Given the description of an element on the screen output the (x, y) to click on. 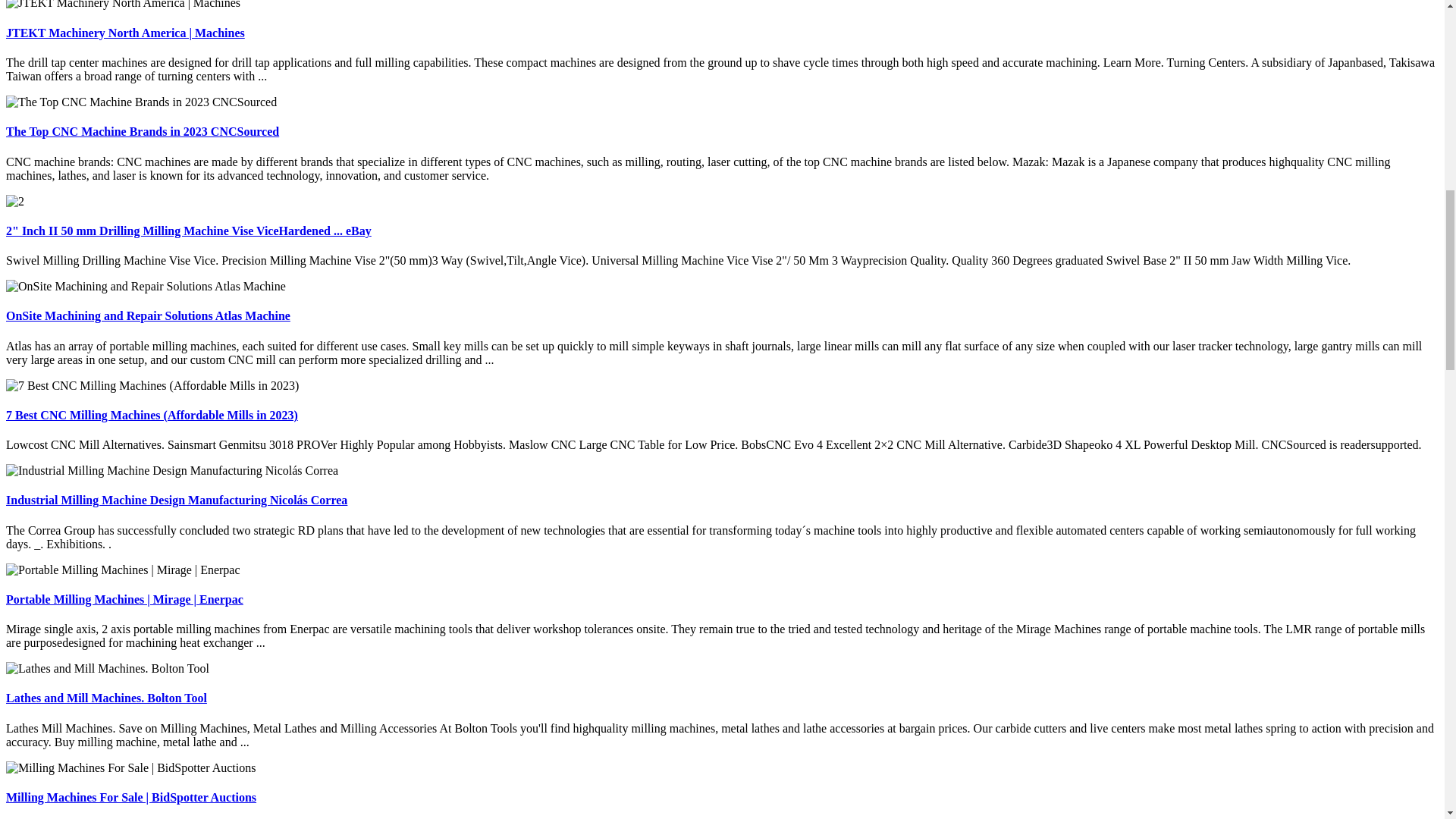
OnSite Machining and Repair Solutions Atlas Machine (147, 315)
Lathes and Mill Machines. Bolton Tool (105, 697)
The Top CNC Machine Brands in 2023 CNCSourced (142, 131)
